Given the description of an element on the screen output the (x, y) to click on. 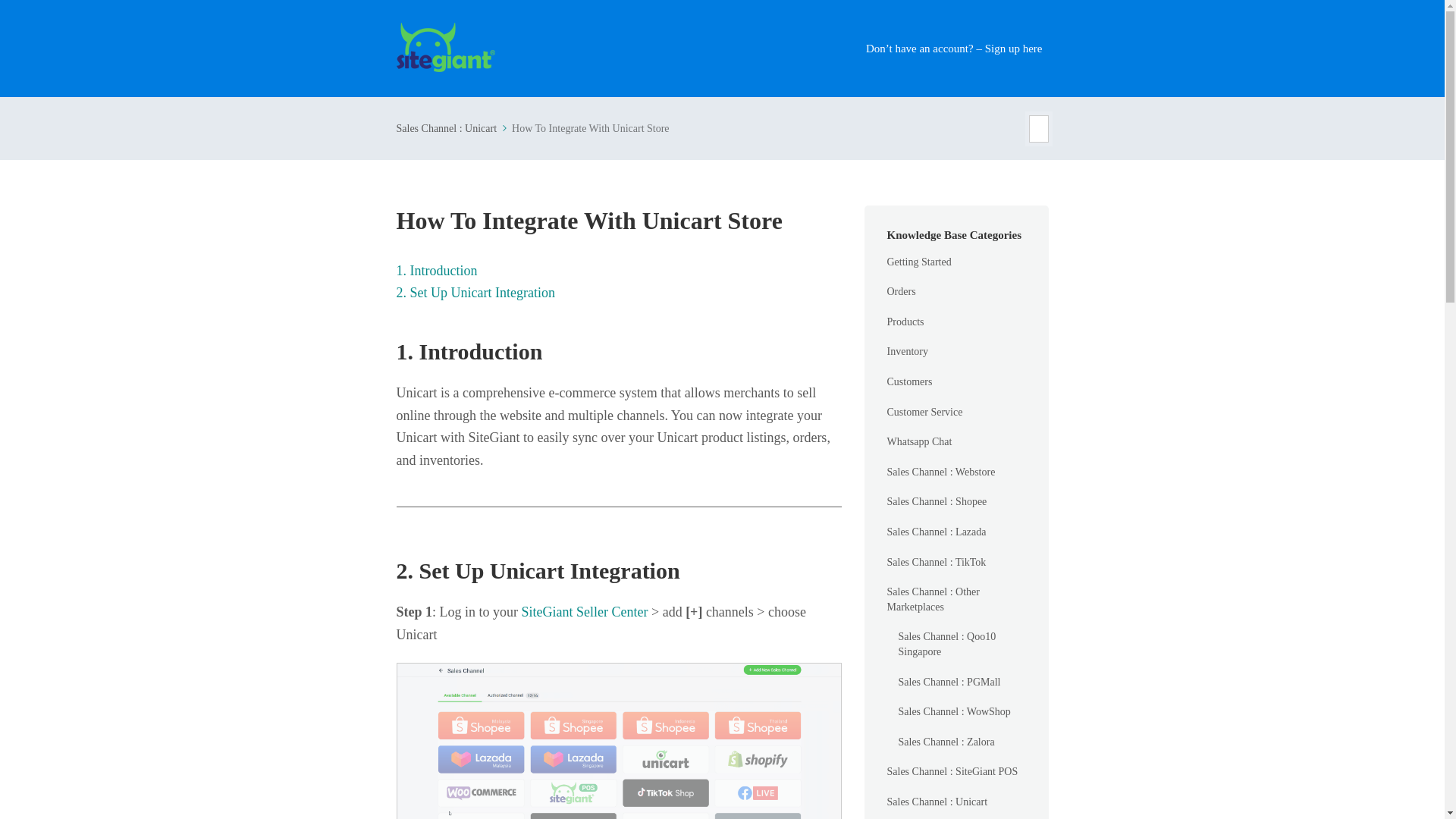
Sales Channel : Qoo10 Singapore (961, 643)
Whatsapp Chat (919, 441)
Orders (900, 291)
Sales Channel : TikTok (936, 562)
Sales Channel : Shopee (936, 501)
Sales Channel : Unicart (937, 802)
Products (905, 322)
Sales Channel : Other Marketplaces (956, 599)
SiteGiant Seller Center (584, 611)
2. Set Up Unicart Integration (475, 292)
